Given the description of an element on the screen output the (x, y) to click on. 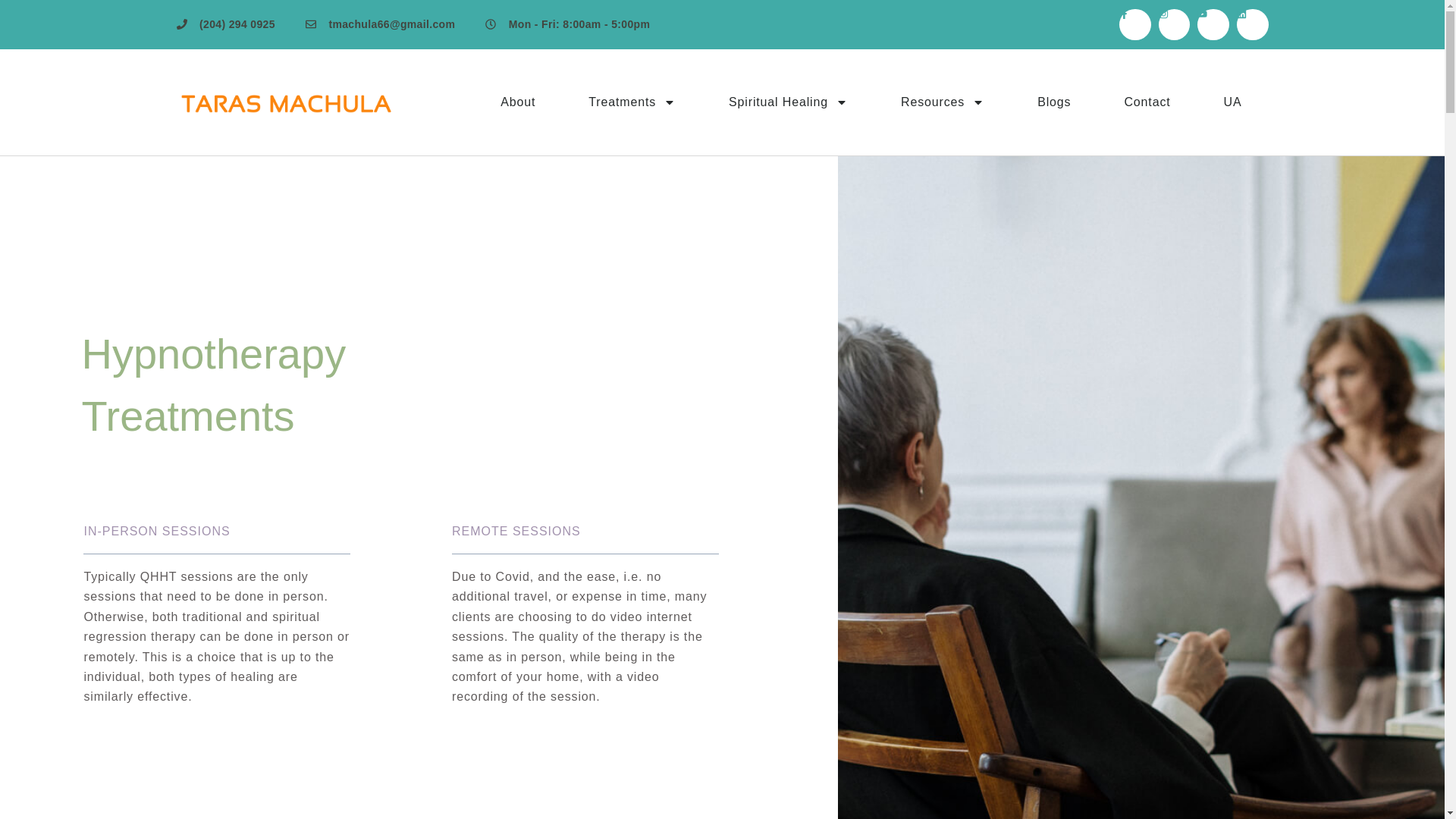
Resources (942, 102)
Treatments (631, 102)
Contact (1146, 102)
Spiritual Healing (788, 102)
